Given the description of an element on the screen output the (x, y) to click on. 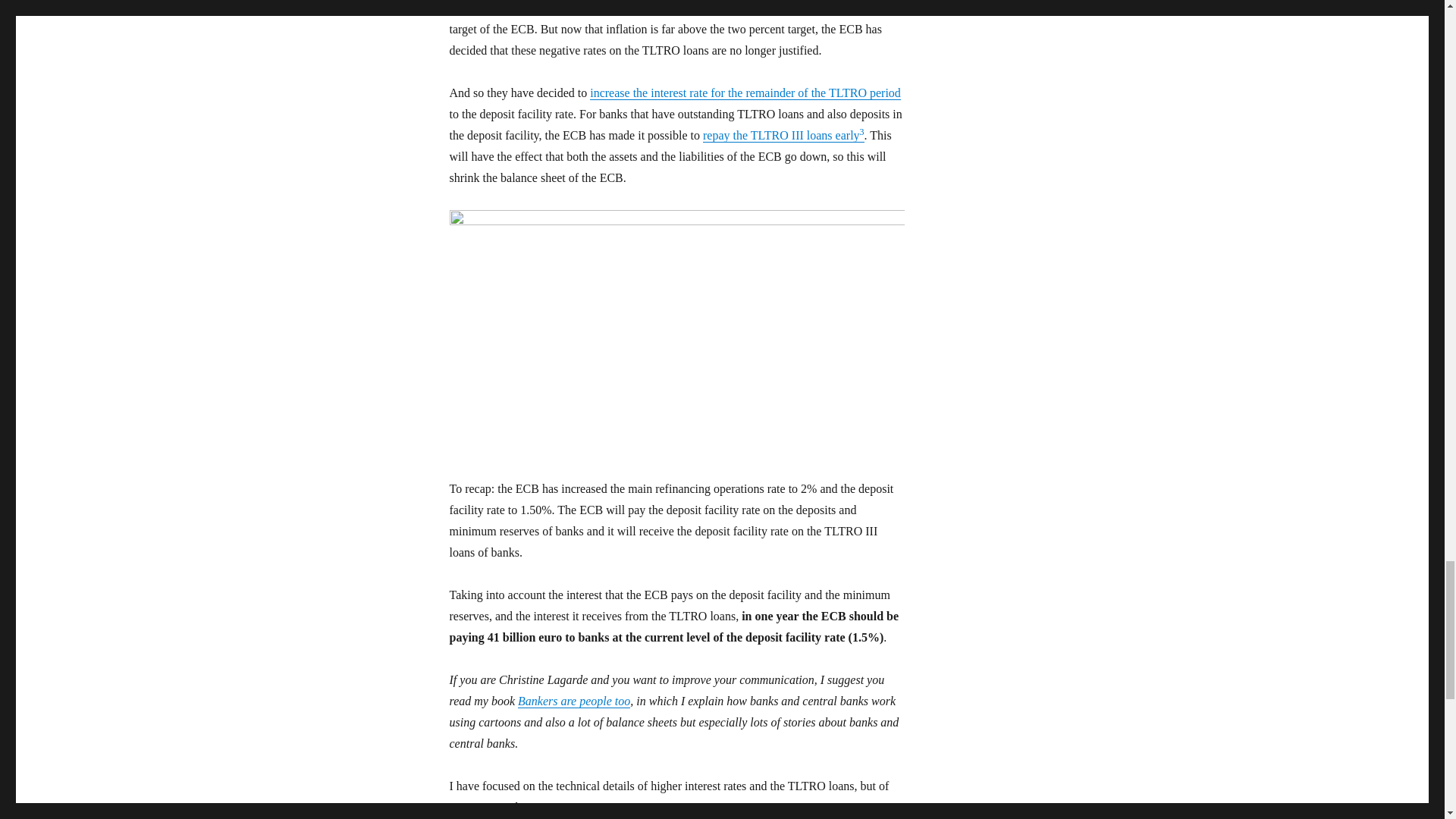
repay the TLTRO III loans early (781, 134)
Bankers are people too (574, 700)
